Given the description of an element on the screen output the (x, y) to click on. 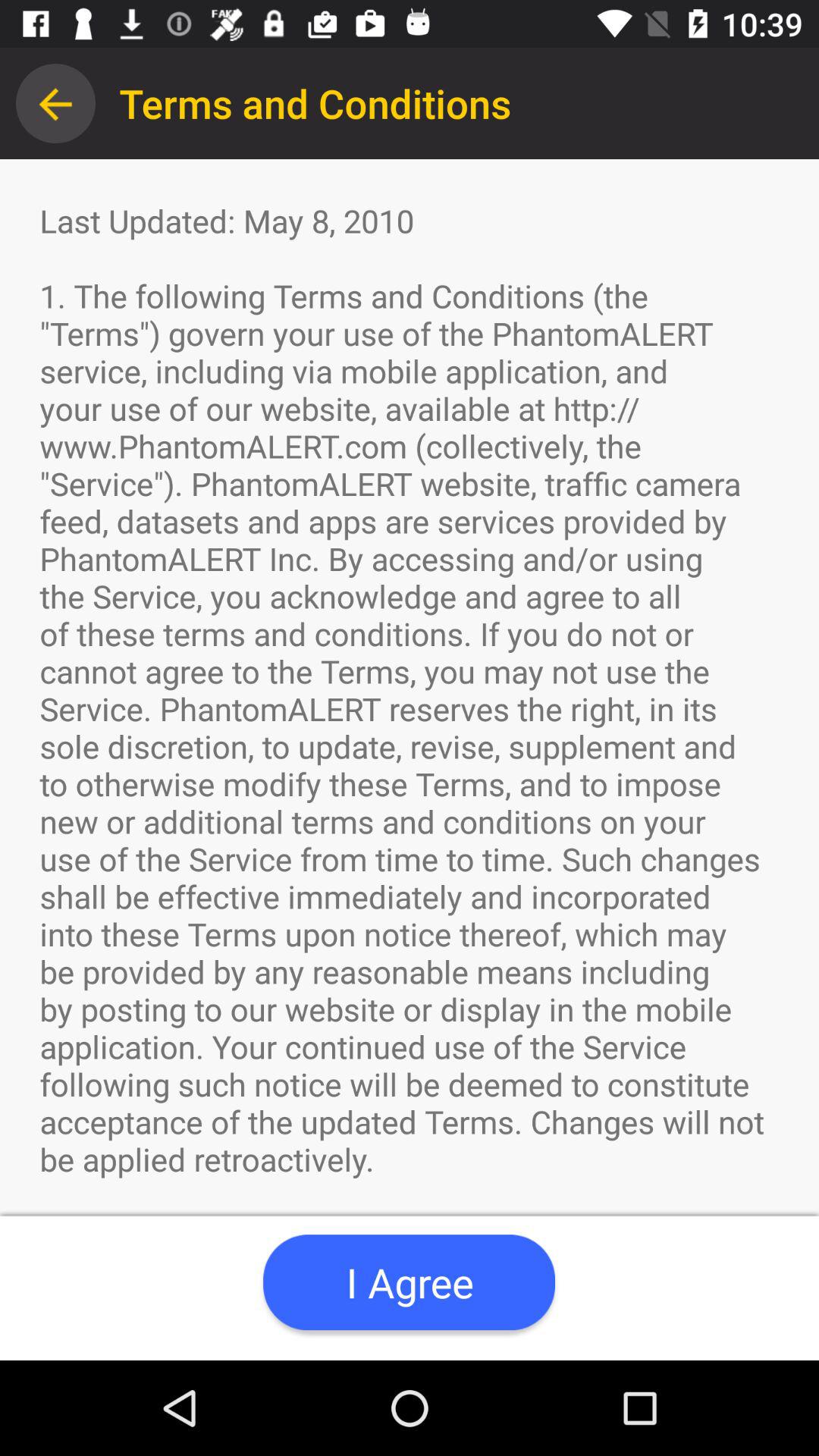
select icon at the top left corner (55, 103)
